Given the description of an element on the screen output the (x, y) to click on. 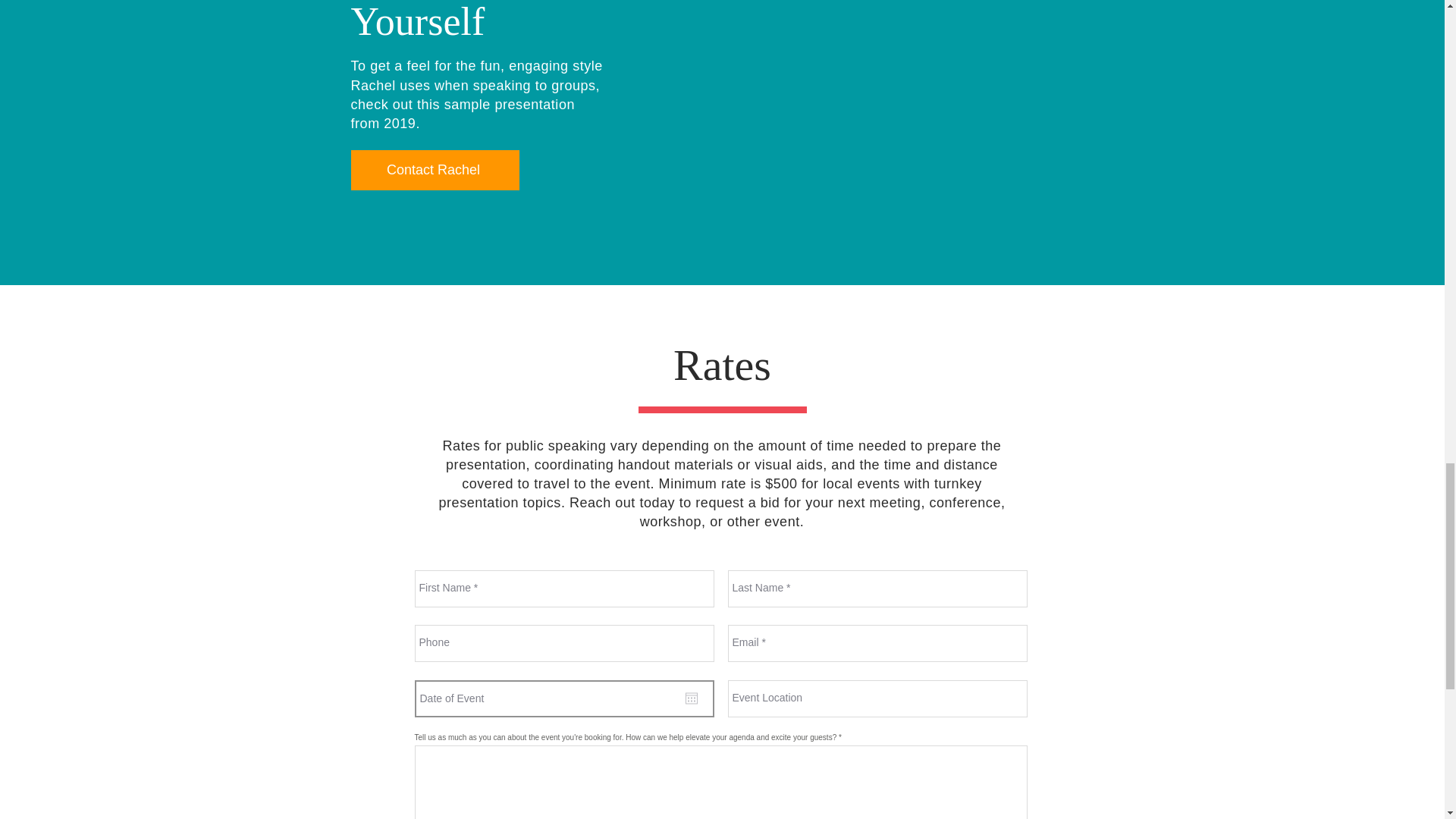
Contact Rachel (434, 169)
